Given the description of an element on the screen output the (x, y) to click on. 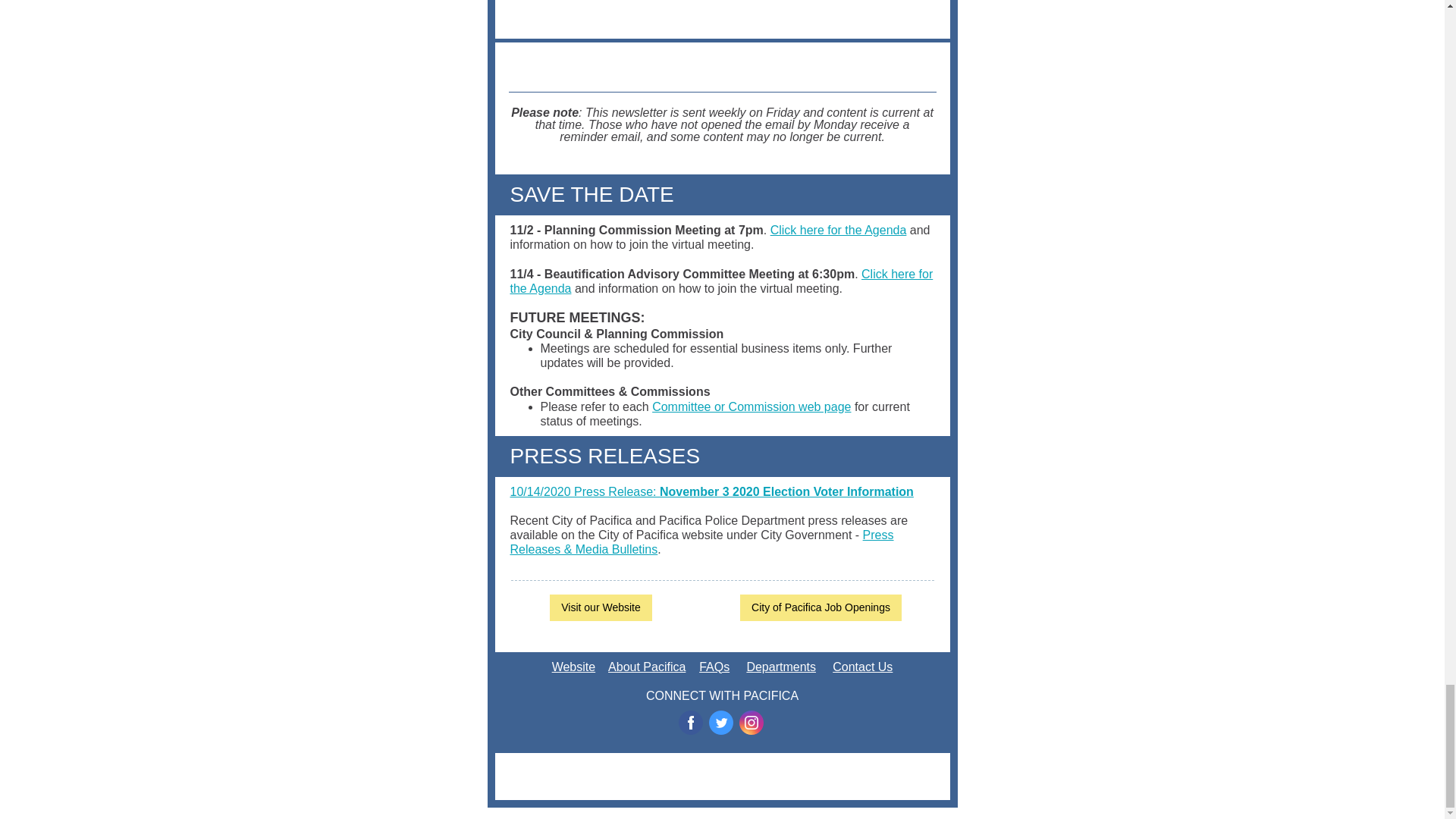
Visit our Website (600, 607)
November 3 2020 Election Voter Information (786, 491)
Click here for the Agenda (721, 280)
Website (573, 666)
City of Pacifica Job Openings (820, 607)
Click here for the Agenda (838, 229)
About Pacifica (646, 666)
FAQs (713, 666)
Committee or Commission web page (751, 406)
Departments (780, 666)
